Given the description of an element on the screen output the (x, y) to click on. 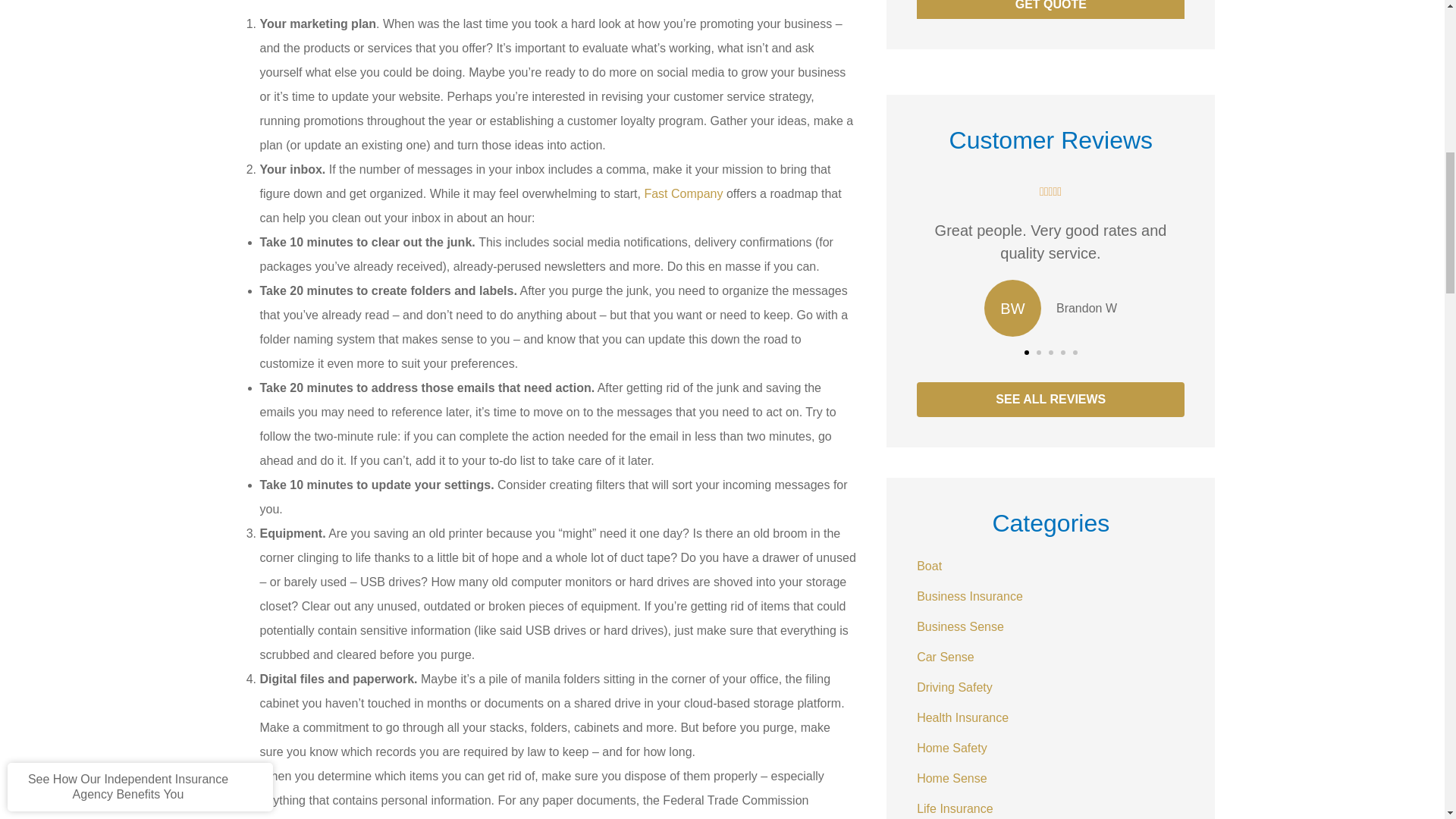
Get Quote (1051, 9)
